Given the description of an element on the screen output the (x, y) to click on. 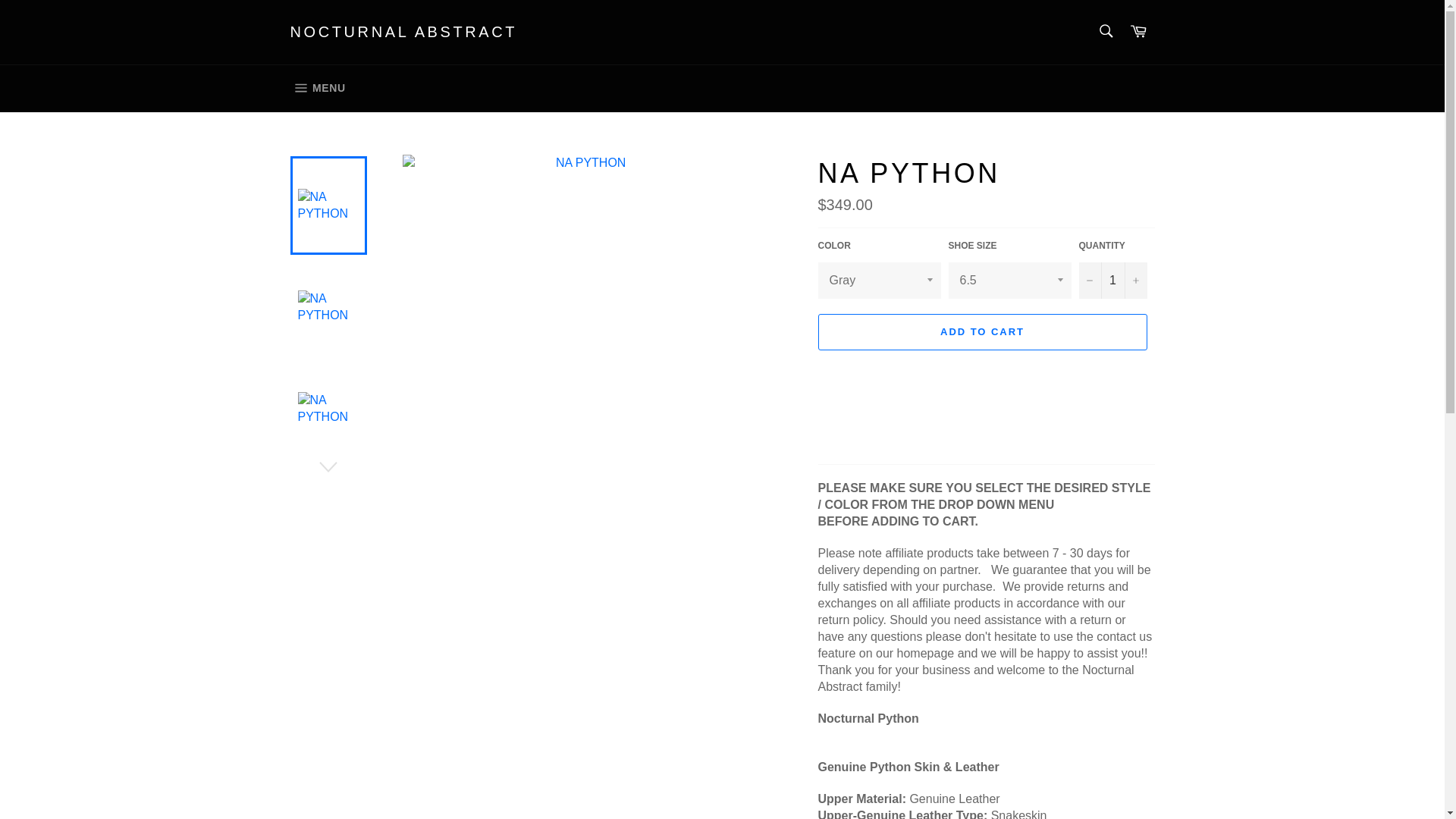
1 (1112, 280)
NOCTURNAL ABSTRACT (402, 32)
Search (1104, 30)
Cart (1138, 32)
